Given the description of an element on the screen output the (x, y) to click on. 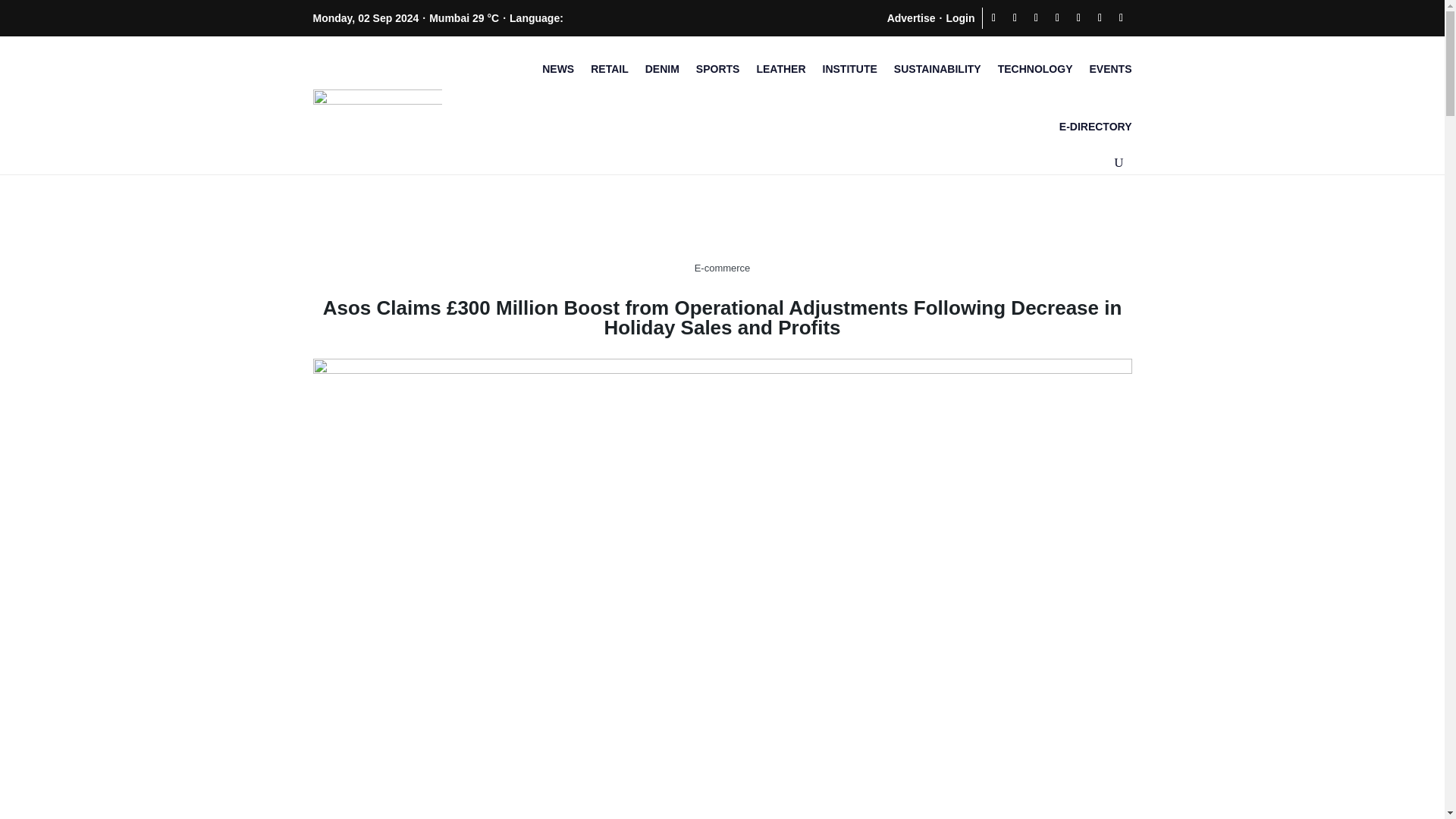
Follow on WhatsApp (1120, 17)
Follow on X (1014, 17)
Login (959, 17)
Follow on LinkedIn (1056, 17)
INSTITUTE (849, 68)
Follow on Youtube (1078, 17)
Follow on Instagram (1035, 17)
Advertise (911, 17)
Follow on Telegram (1099, 17)
SUSTAINABILITY (937, 68)
